Given the description of an element on the screen output the (x, y) to click on. 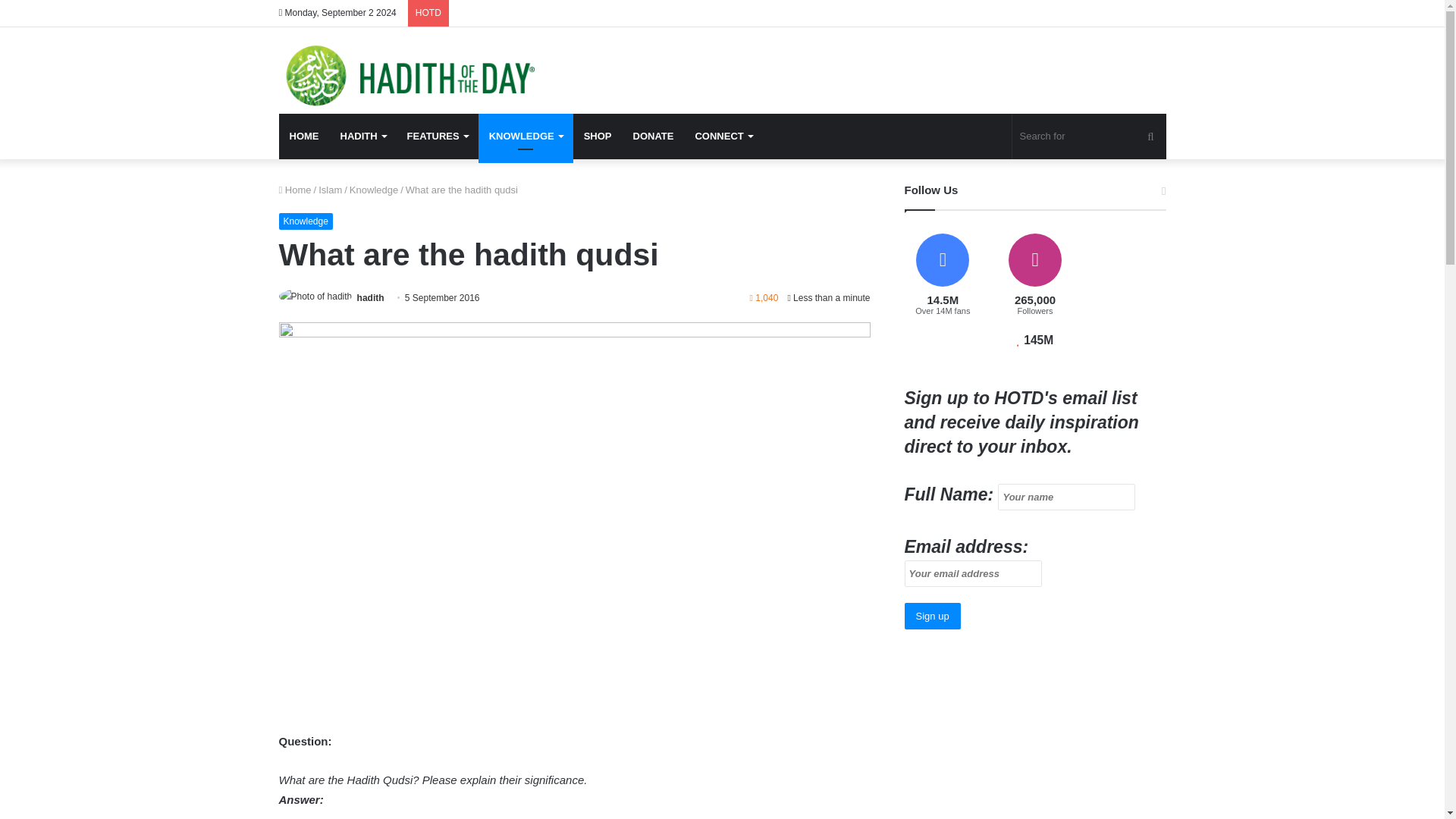
hadith (370, 297)
Islam (330, 189)
HADITH (362, 135)
Knowledge (373, 189)
KNOWLEDGE (526, 135)
Hadith of the Day (406, 75)
Knowledge (306, 221)
DONATE (653, 135)
HOME (304, 135)
Sign up (932, 615)
